Given the description of an element on the screen output the (x, y) to click on. 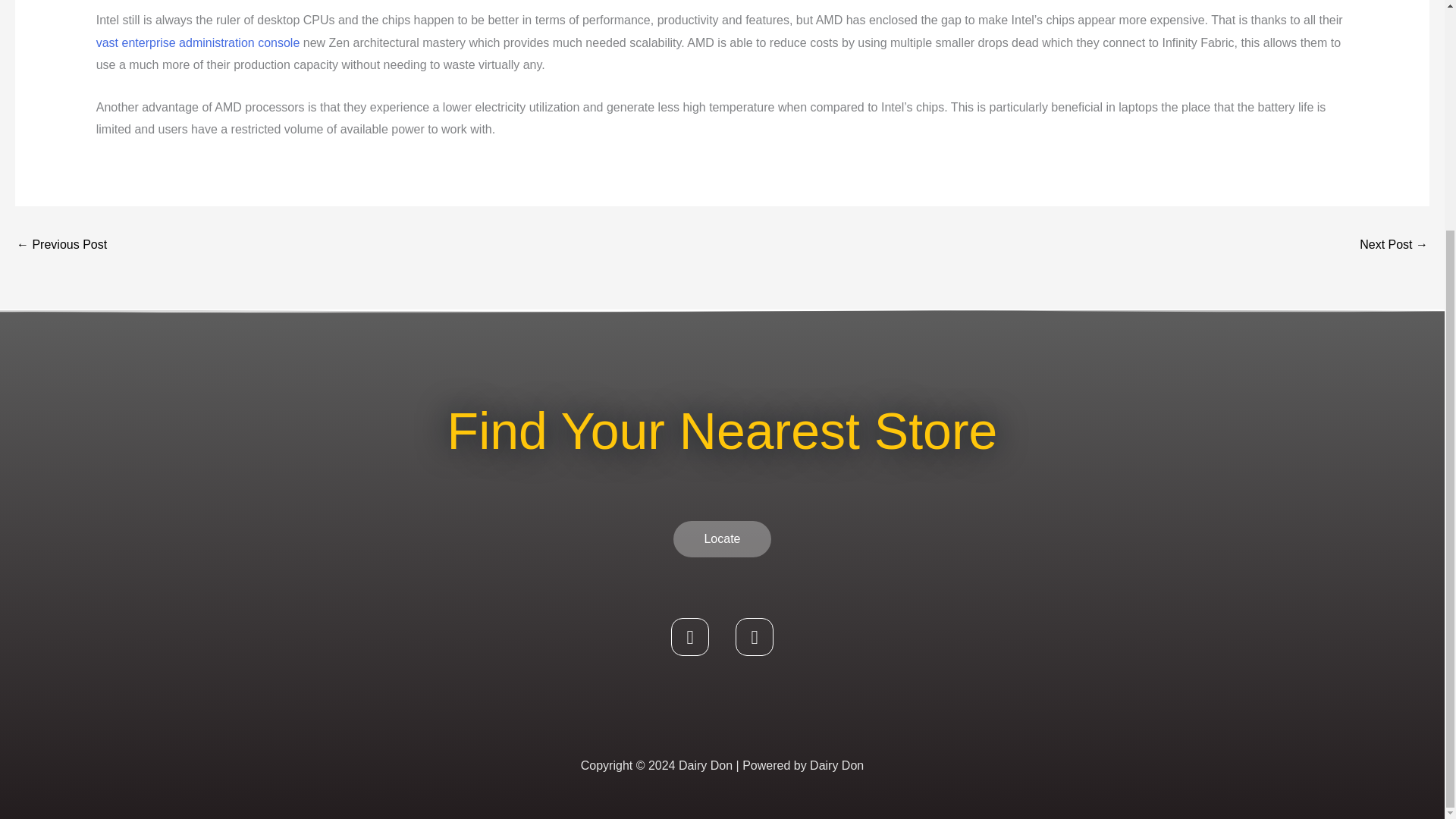
Electronic digital Machines For people who do buiness (61, 245)
vast enterprise administration console (197, 42)
Locate (721, 538)
Facebook (690, 637)
Instagram (754, 637)
